Given the description of an element on the screen output the (x, y) to click on. 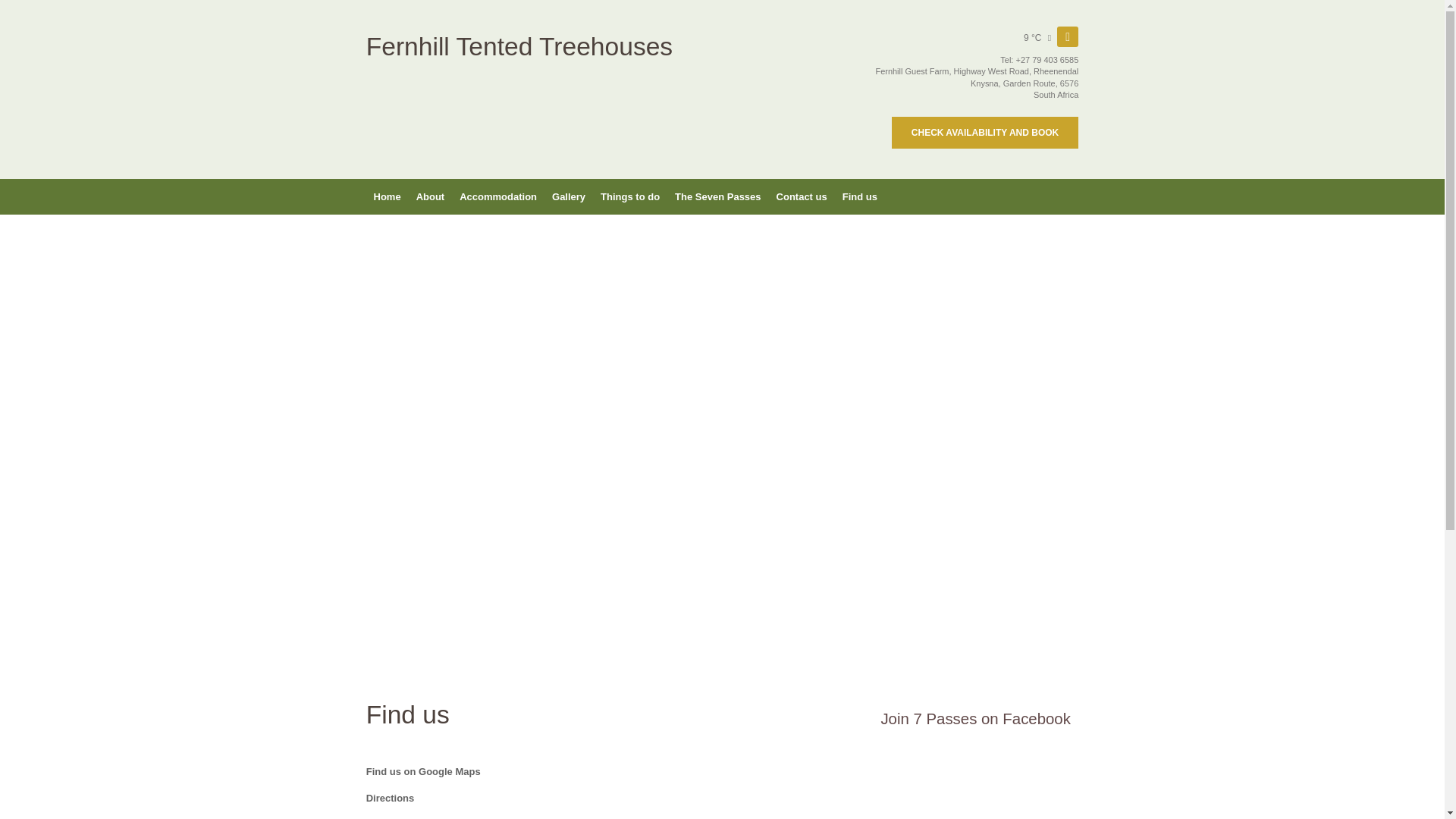
Fernhill Tented Treehouses (519, 51)
CHECK AVAILABILITY AND BOOK (984, 132)
Home (386, 196)
Fernhill Tented Treehouses (519, 51)
